Given the description of an element on the screen output the (x, y) to click on. 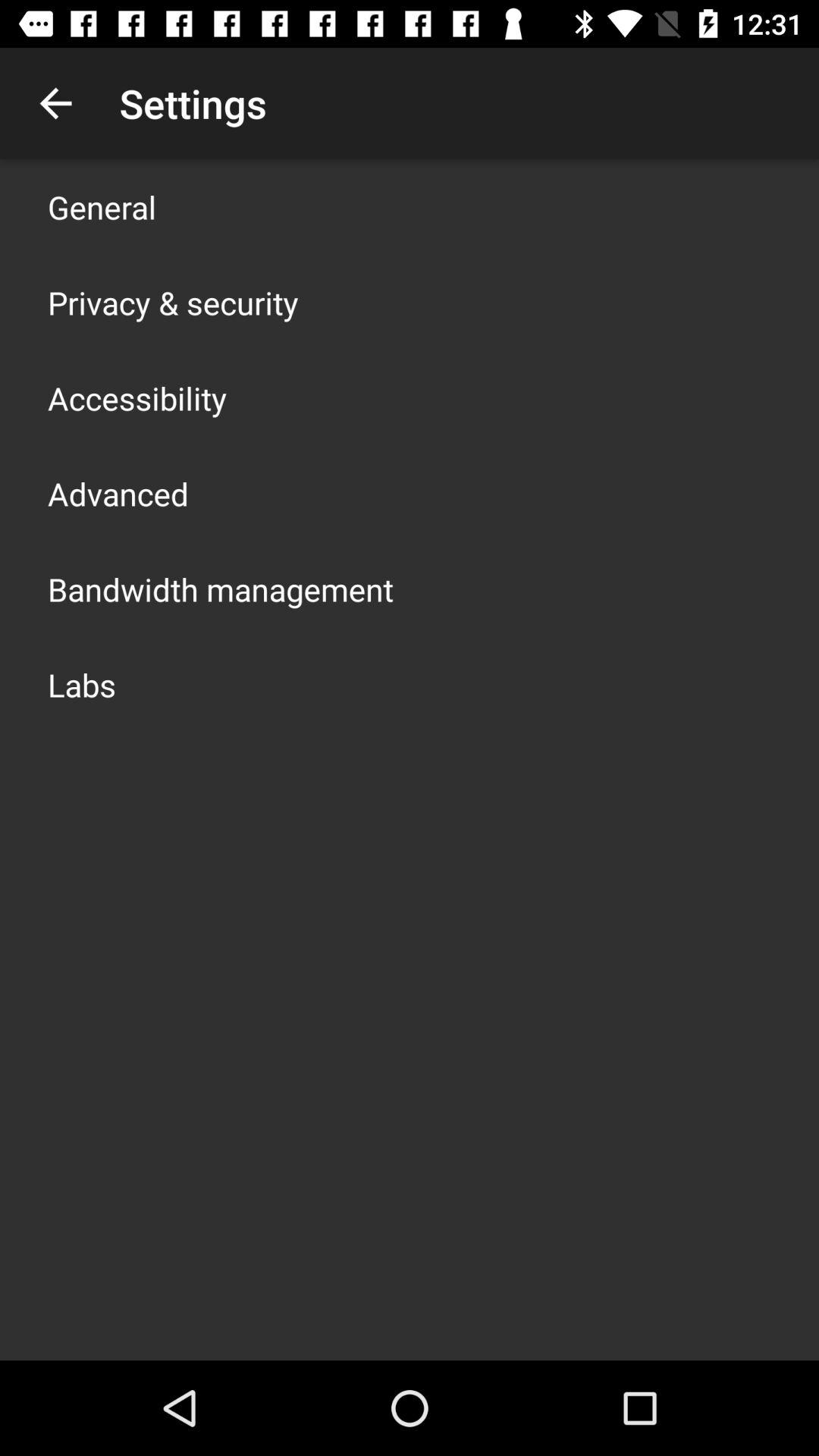
press the general icon (101, 206)
